Given the description of an element on the screen output the (x, y) to click on. 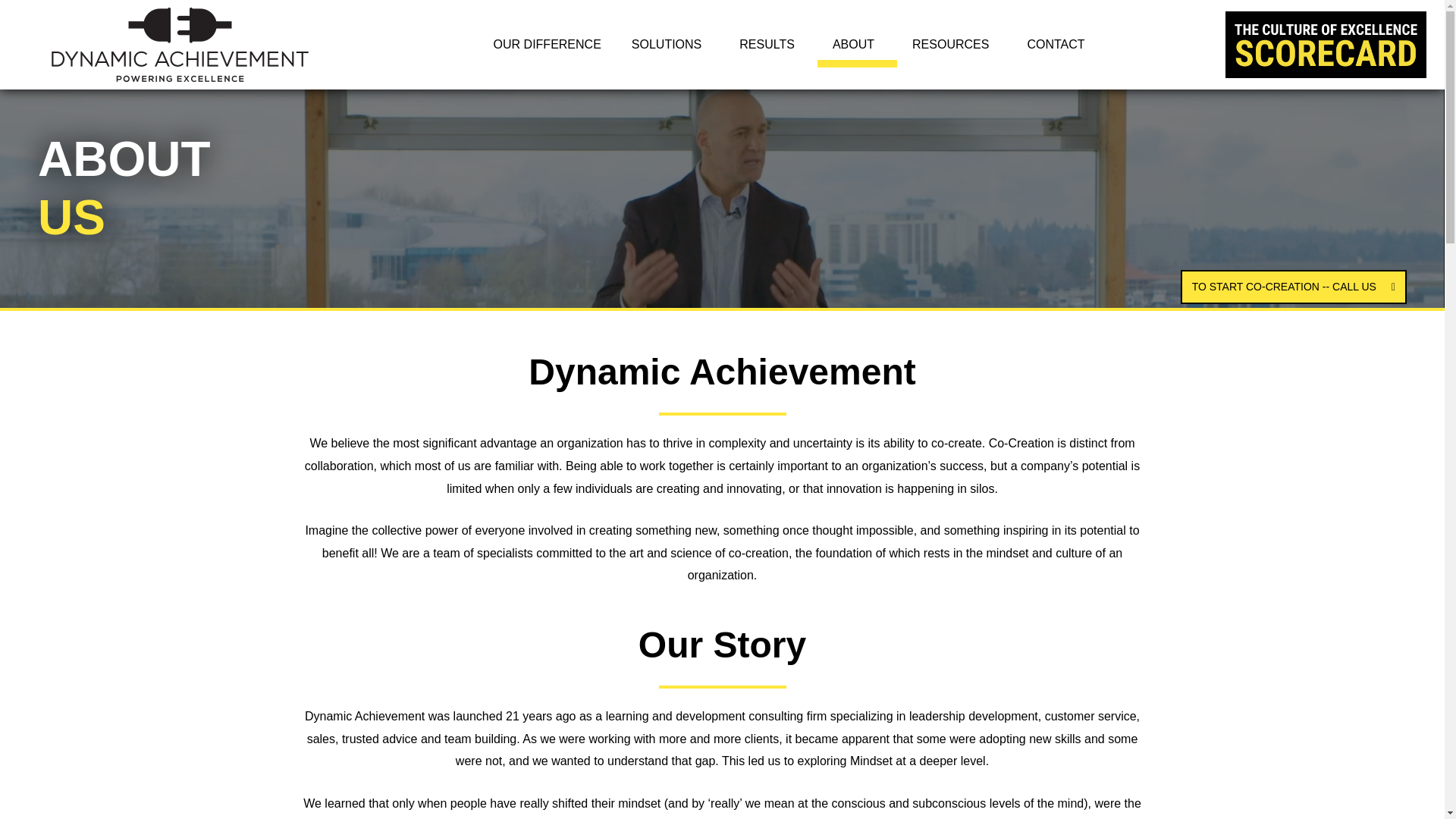
RESULTS (769, 44)
ABOUT (856, 44)
SOLUTIONS (669, 44)
OUR DIFFERENCE (547, 44)
